Given the description of an element on the screen output the (x, y) to click on. 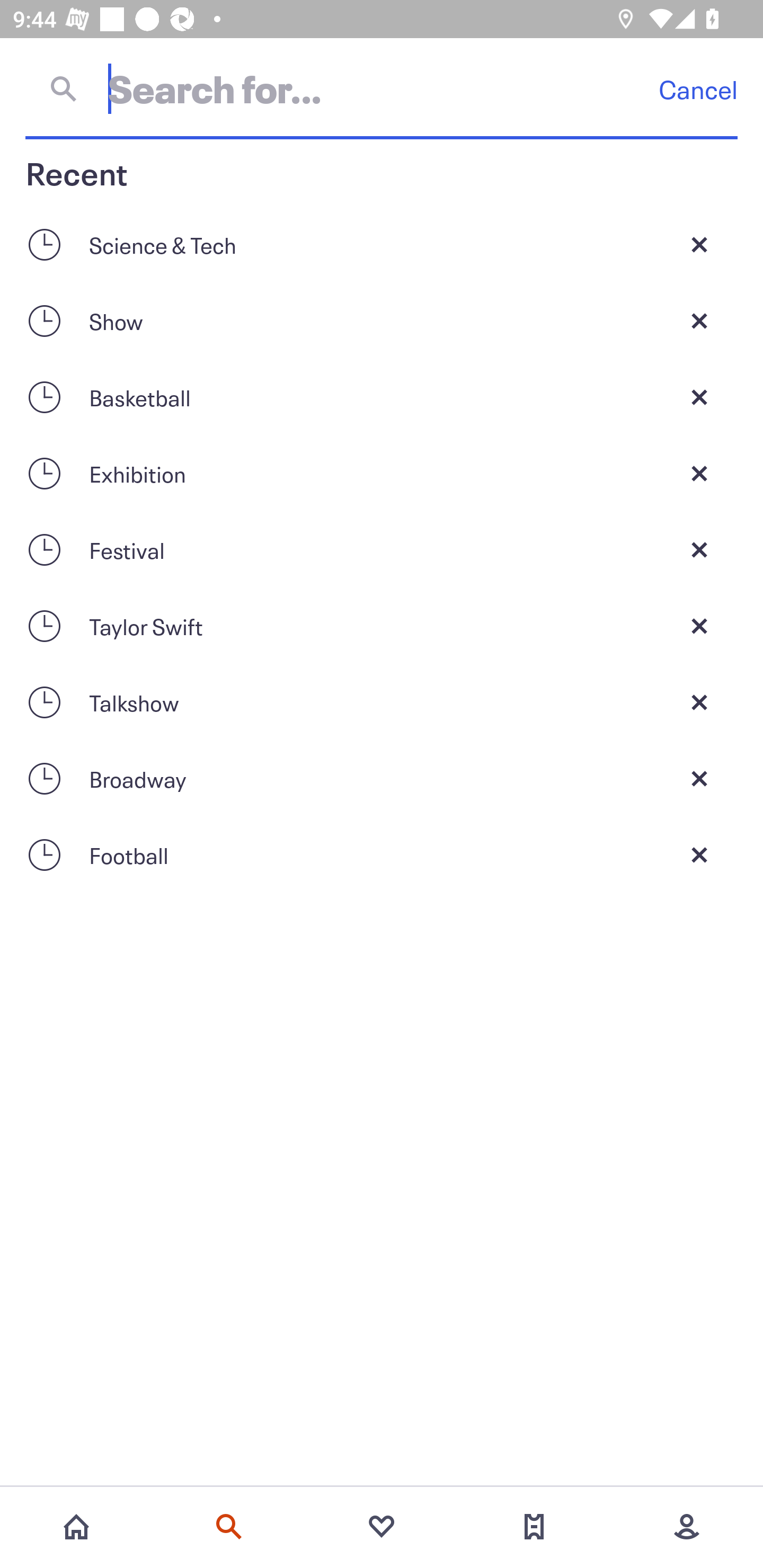
Cancel Search for… (381, 88)
Cancel (697, 89)
Science & Tech Close current screen (381, 244)
Close current screen (699, 244)
Show Close current screen (381, 320)
Close current screen (699, 320)
Basketball Close current screen (381, 397)
Close current screen (699, 397)
Exhibition Close current screen (381, 473)
Close current screen (699, 473)
Festival Close current screen (381, 549)
Close current screen (699, 549)
Taylor Swift Close current screen (381, 626)
Close current screen (699, 626)
Talkshow Close current screen (381, 702)
Close current screen (699, 702)
Broadway Close current screen (381, 778)
Close current screen (699, 778)
Football Close current screen (381, 854)
Close current screen (699, 854)
Home (76, 1526)
Search events (228, 1526)
Favorites (381, 1526)
Tickets (533, 1526)
More (686, 1526)
